Given the description of an element on the screen output the (x, y) to click on. 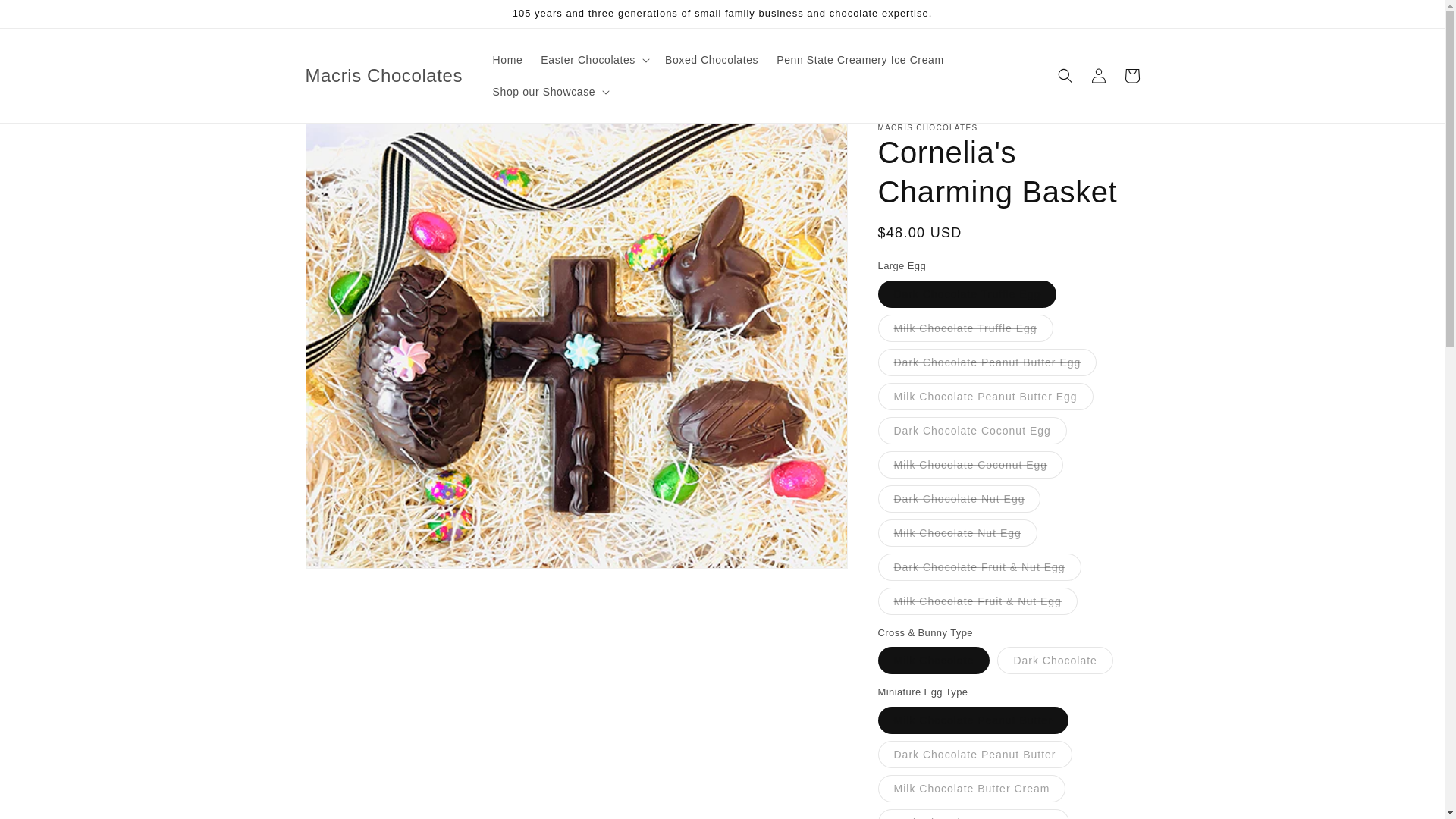
Skip to product information (350, 140)
Boxed Chocolates (711, 60)
Cart (1131, 75)
Log in (1098, 75)
Penn State Creamery Ice Cream (859, 60)
Home (507, 60)
